Given the description of an element on the screen output the (x, y) to click on. 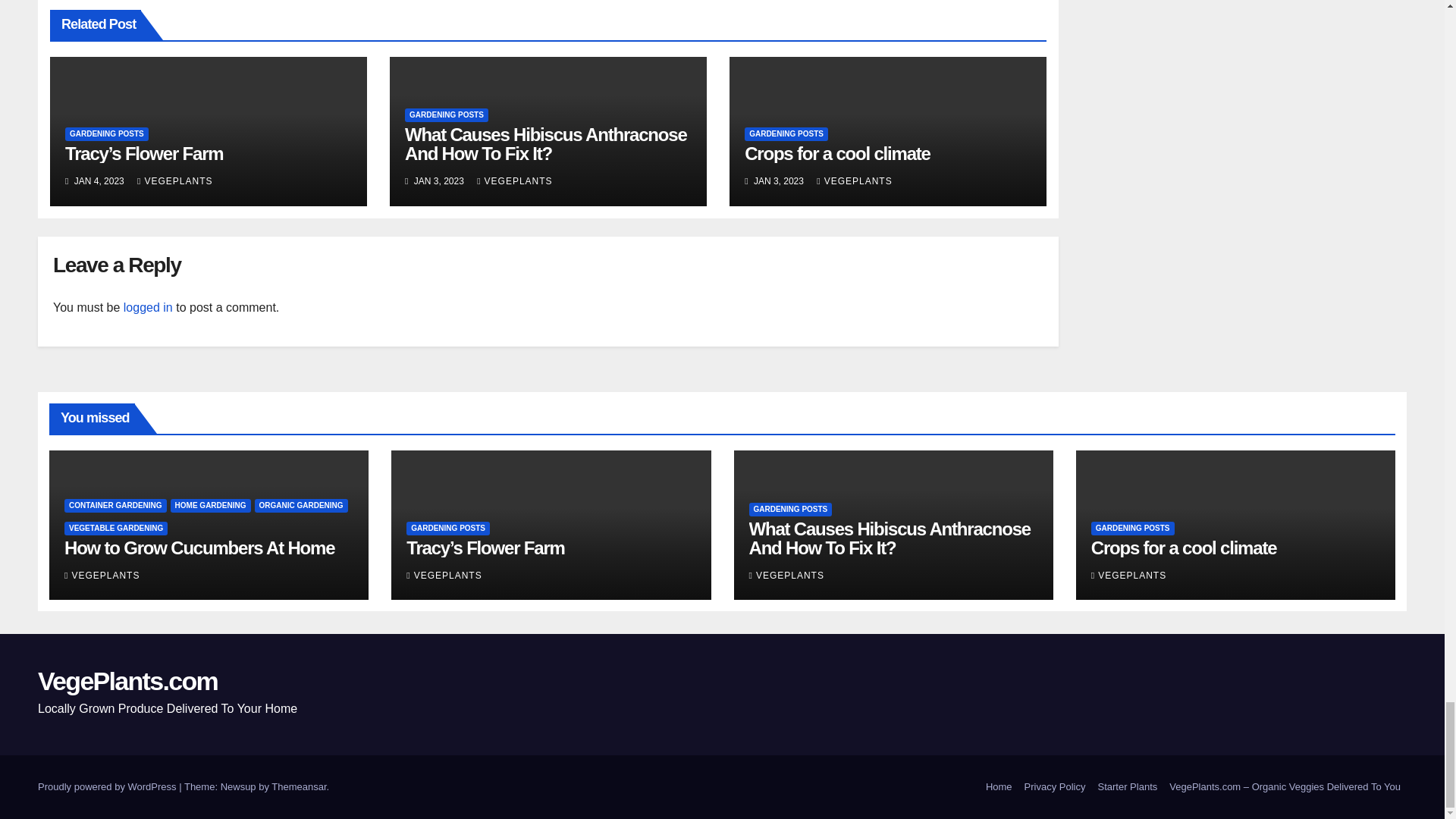
GARDENING POSTS (445, 115)
GARDENING POSTS (106, 133)
logged in (148, 307)
What Causes Hibiscus Anthracnose And How To Fix It? (544, 143)
Crops for a cool climate (837, 153)
VEGEPLANTS (853, 181)
VEGEPLANTS (514, 181)
Permalink to: Crops for a cool climate (837, 153)
VEGEPLANTS (174, 181)
GARDENING POSTS (786, 133)
Permalink to: How to Grow Cucumbers At Home (199, 547)
